Given the description of an element on the screen output the (x, y) to click on. 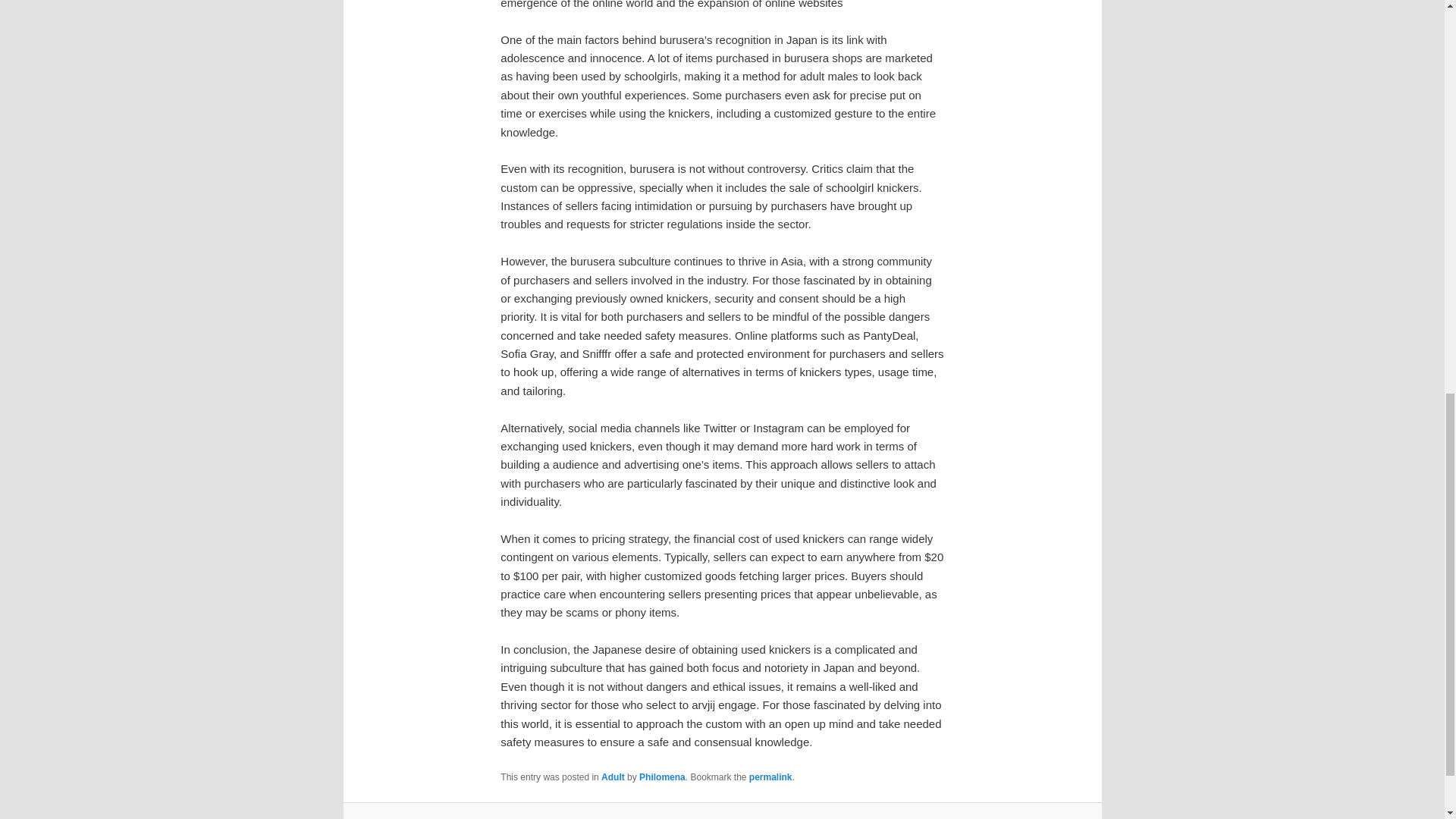
permalink (770, 777)
Permalink to Sensual Exchange: Cheap Used Panties Available (770, 777)
Adult (612, 777)
Philomena (662, 777)
